Given the description of an element on the screen output the (x, y) to click on. 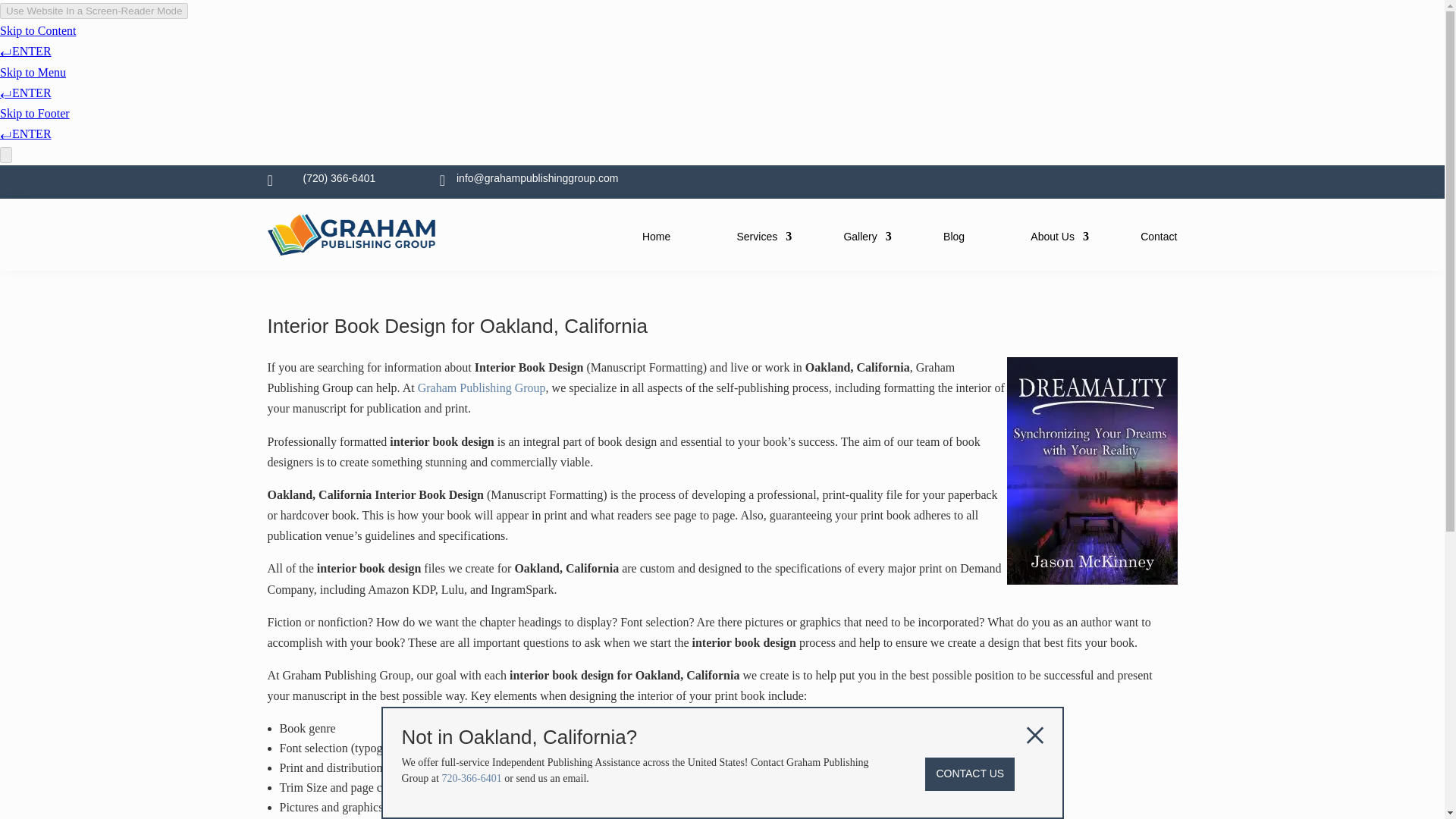
Services (756, 236)
Contact (1158, 236)
About Us (1052, 236)
Gallery (859, 236)
Home (655, 236)
Graham Publishing Group logo (352, 250)
